Given the description of an element on the screen output the (x, y) to click on. 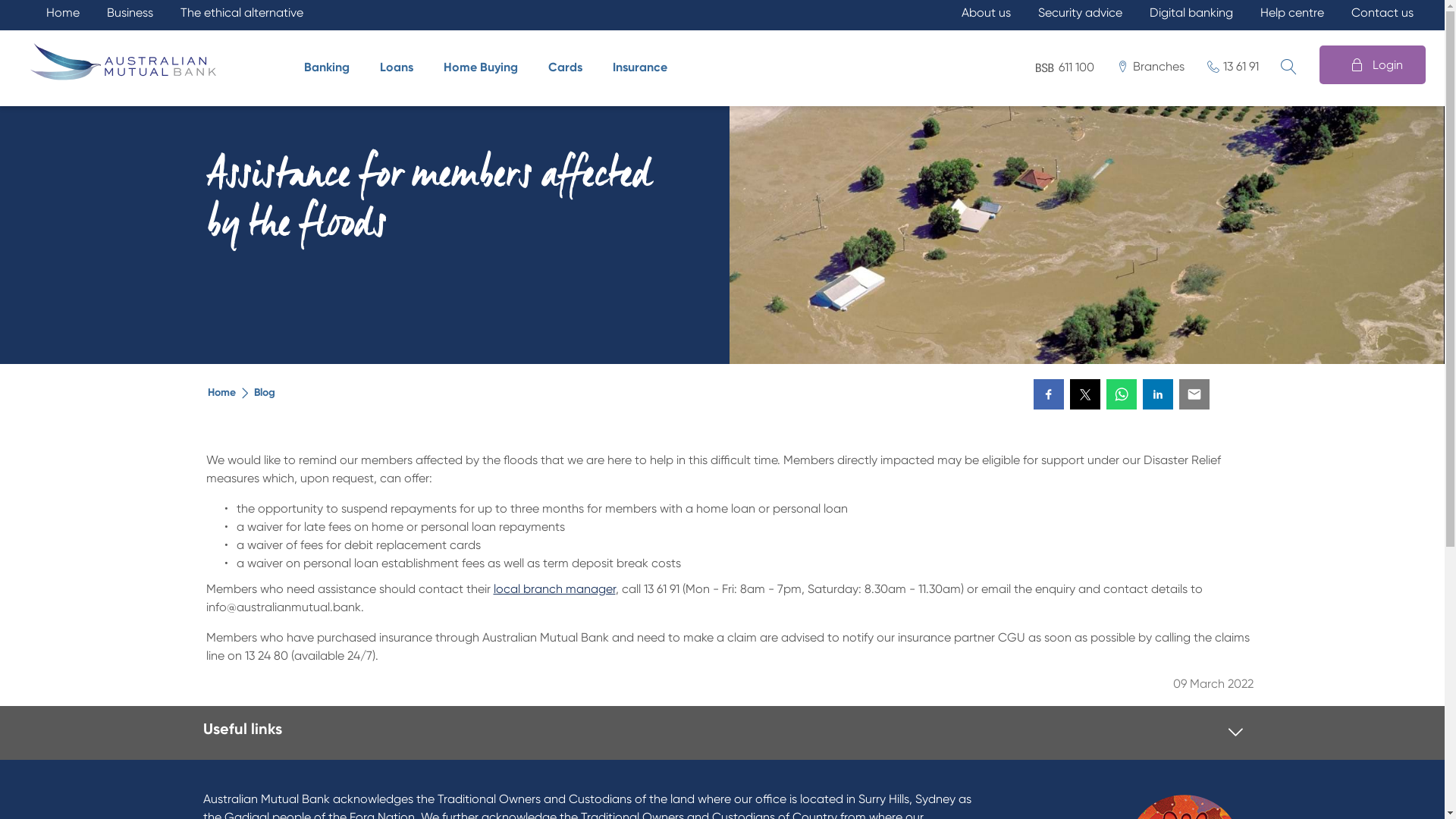
13 61 91 Element type: text (1232, 66)
Banking Element type: text (330, 67)
Branches Element type: text (1150, 66)
Useful links Element type: text (242, 728)
Home Element type: text (221, 392)
Home Buying Element type: text (484, 67)
Login Element type: text (1372, 64)
Loans Element type: text (400, 67)
Insurance Element type: text (643, 67)
Blog Element type: text (263, 392)
local branch manager Element type: text (553, 588)
Cards Element type: text (568, 67)
